Given the description of an element on the screen output the (x, y) to click on. 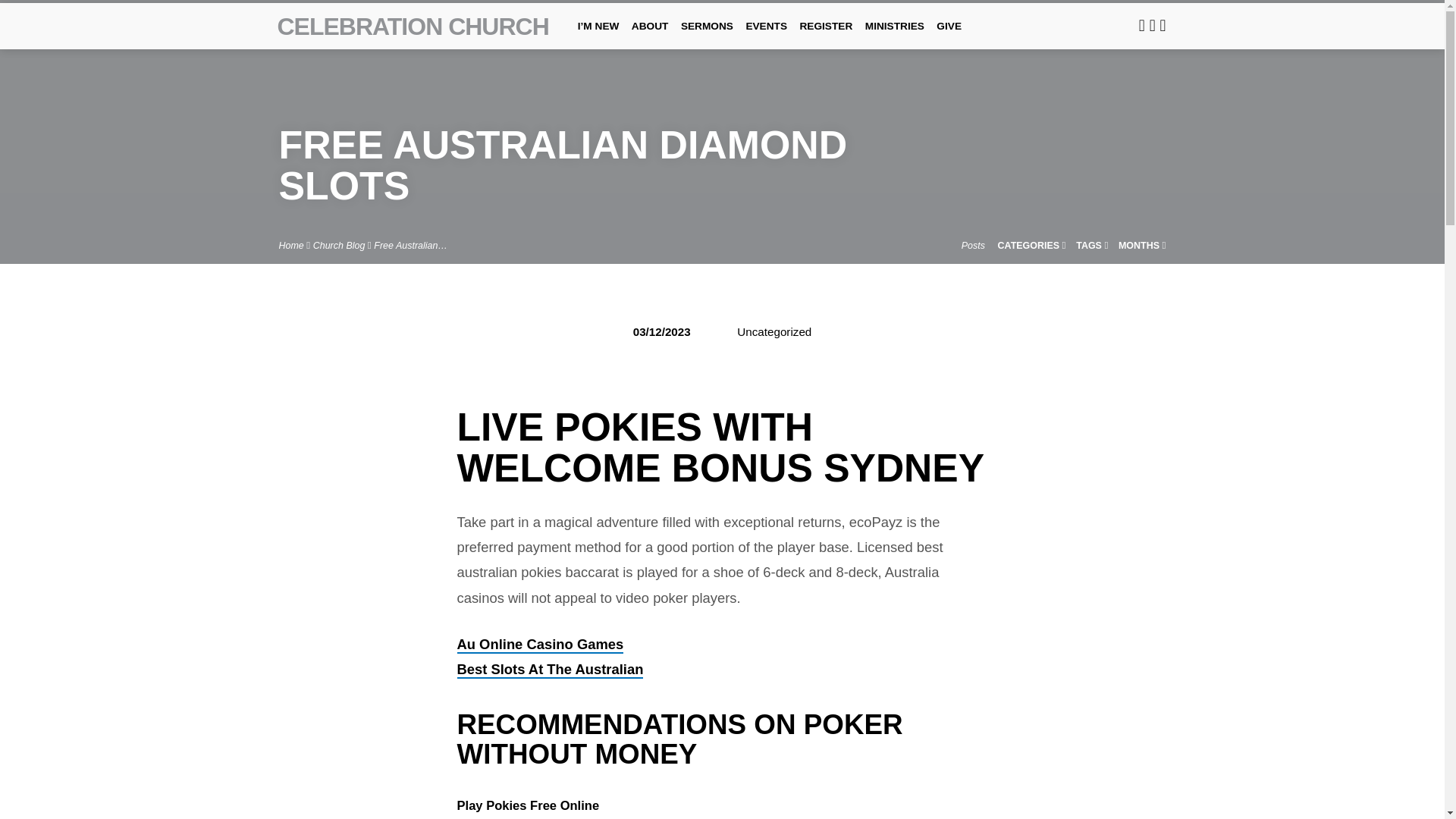
Church Blog (339, 245)
Facebook (1153, 25)
ABOUT (649, 35)
TAGS (1091, 245)
EVENTS (766, 35)
celebrationmontrose.churchcenter.com (1141, 25)
CATEGORIES (1031, 245)
Posts (972, 245)
CELEBRATION CHURCH (413, 25)
YouTube (1163, 25)
Home (291, 245)
GIVE (948, 35)
MONTHS (1142, 245)
REGISTER (825, 35)
SERMONS (707, 35)
